Given the description of an element on the screen output the (x, y) to click on. 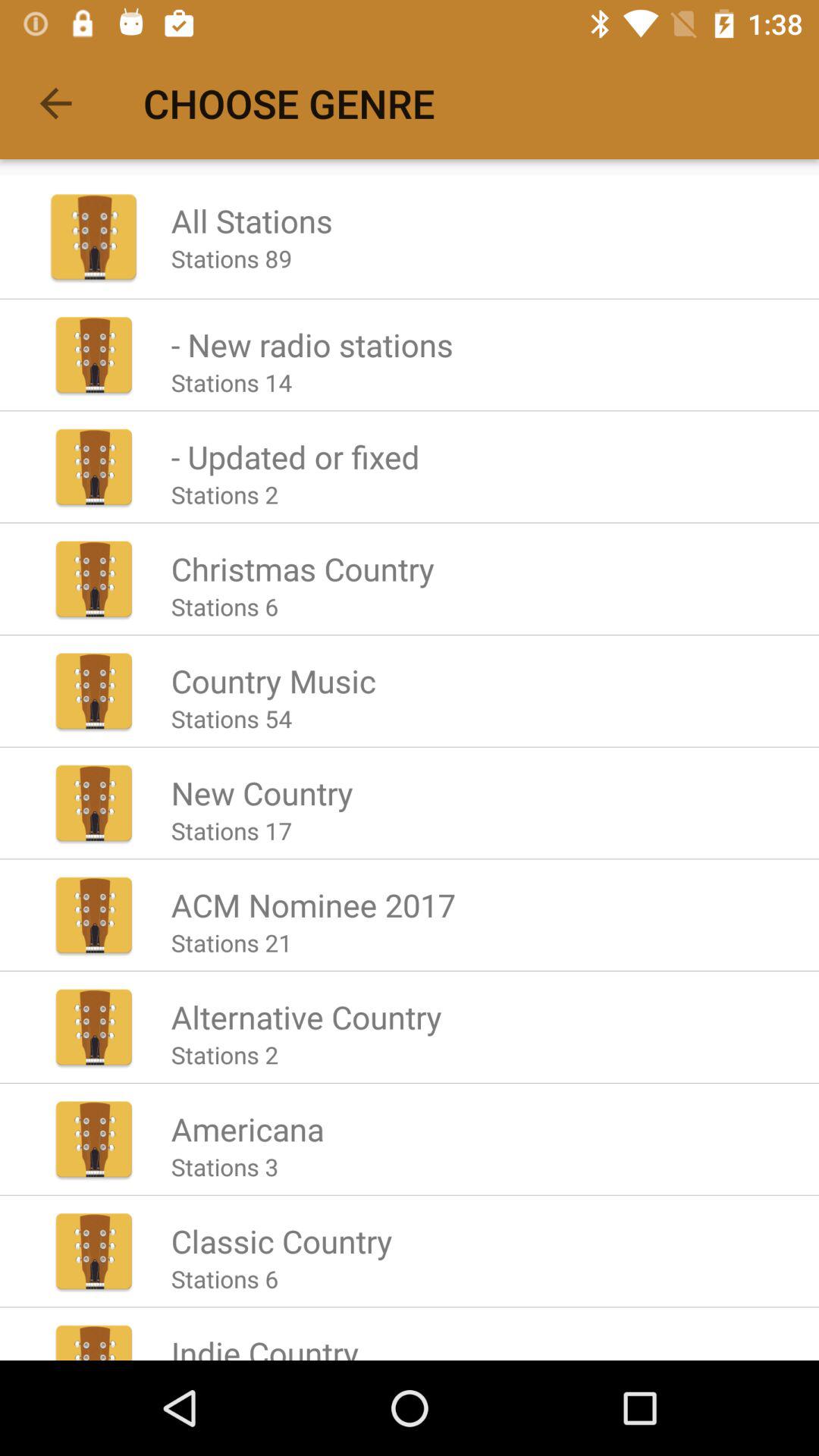
turn on icon next to the choose genre (55, 103)
